Given the description of an element on the screen output the (x, y) to click on. 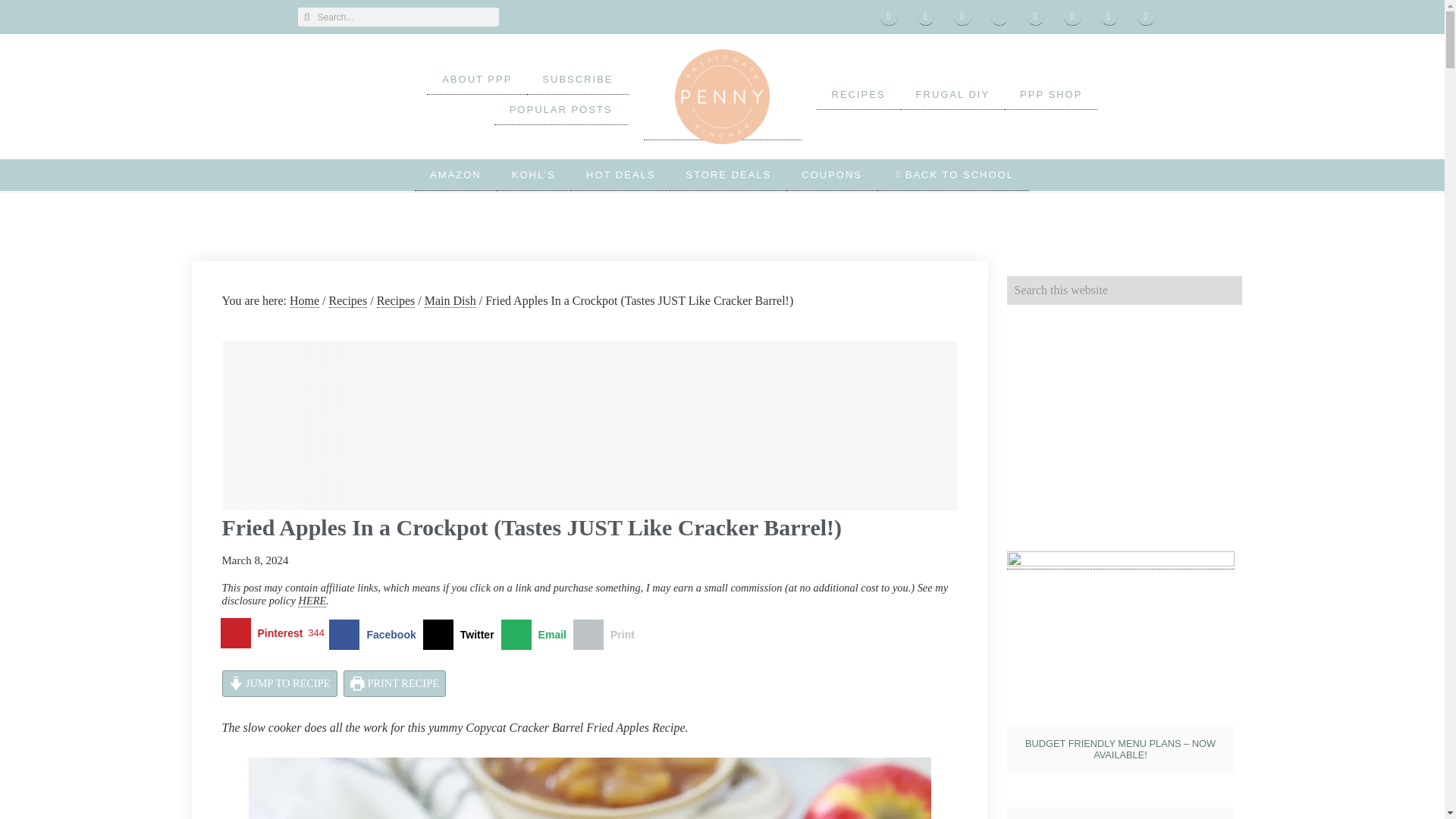
SUBSCRIBE (577, 79)
PPP SHOP (1050, 94)
POPULAR POSTS (561, 110)
Share on X (461, 634)
Save to Pinterest (275, 634)
RECIPES (857, 94)
Print this webpage (607, 634)
Share on Facebook (375, 634)
